Given the description of an element on the screen output the (x, y) to click on. 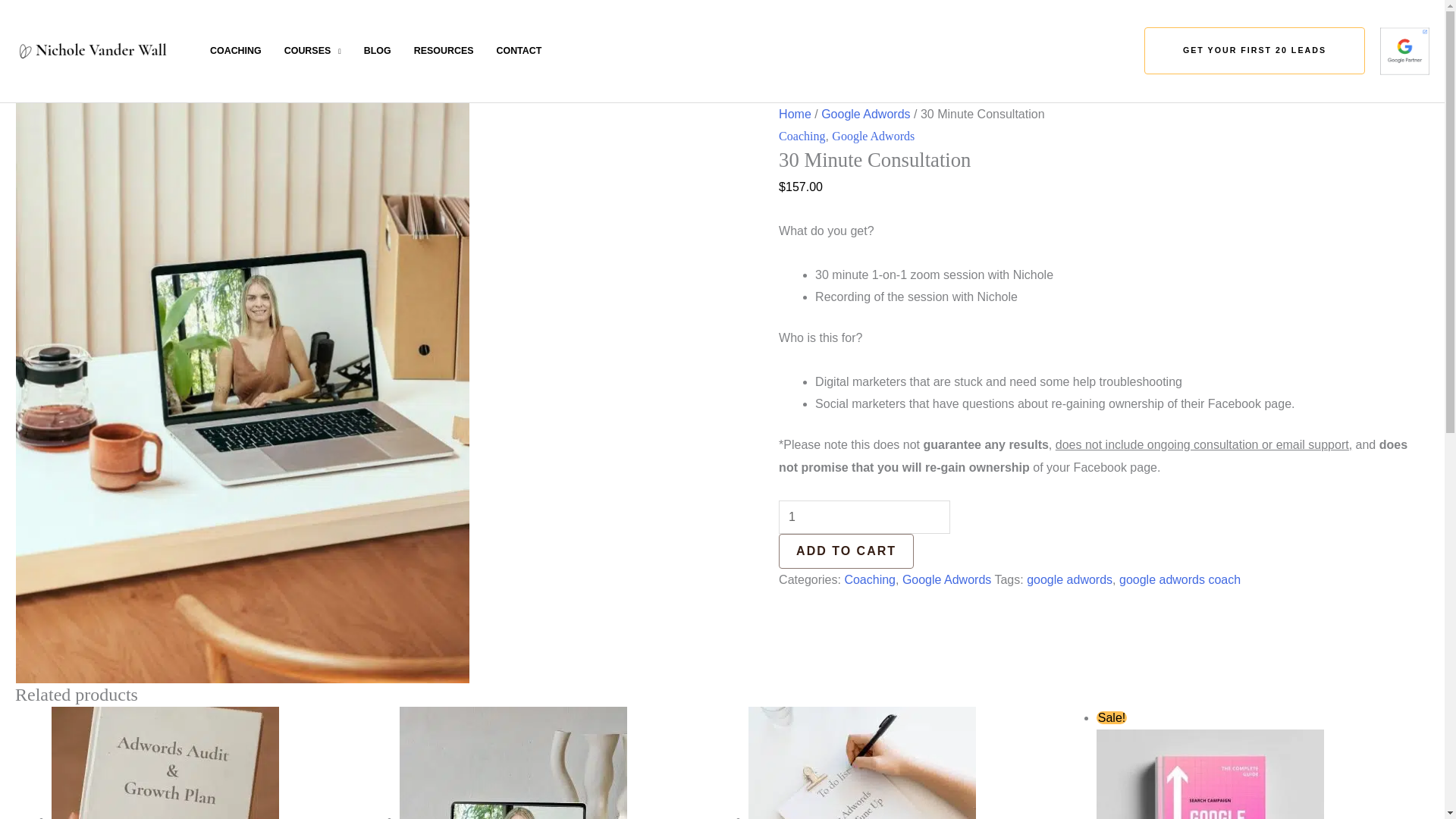
1 (864, 516)
Google Adwords (865, 113)
Coaching (801, 135)
Google Adwords (946, 579)
BLOG (377, 50)
COURSES (312, 50)
google adwords (1069, 579)
COACHING (235, 50)
Coaching (869, 579)
RESOURCES (443, 50)
